Given the description of an element on the screen output the (x, y) to click on. 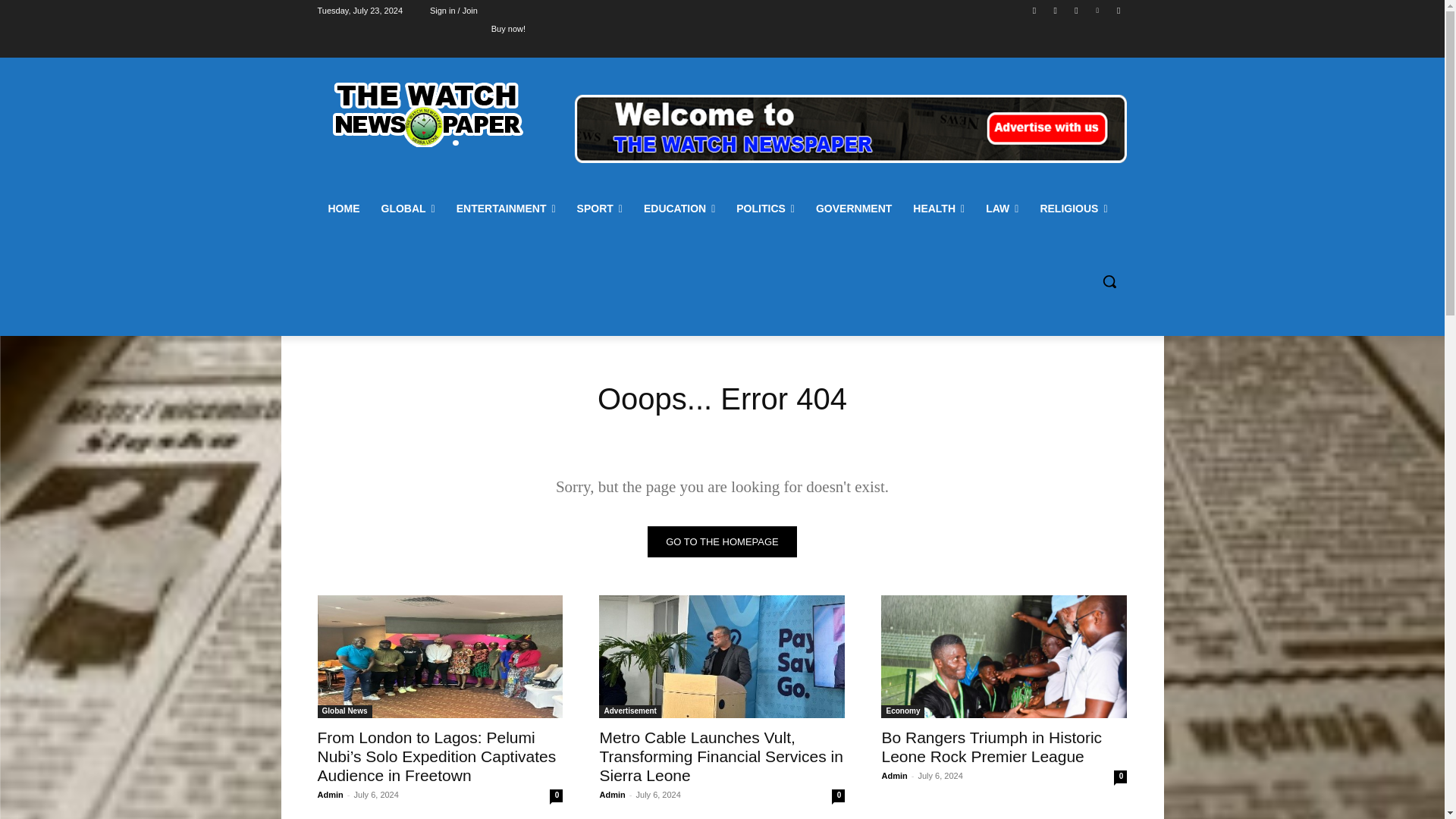
HOME (343, 208)
Instagram (1055, 9)
Facebook (1034, 9)
GLOBAL (407, 208)
Vimeo (1097, 9)
Buy now! (508, 28)
Twitter (1075, 9)
Youtube (1117, 9)
